Given the description of an element on the screen output the (x, y) to click on. 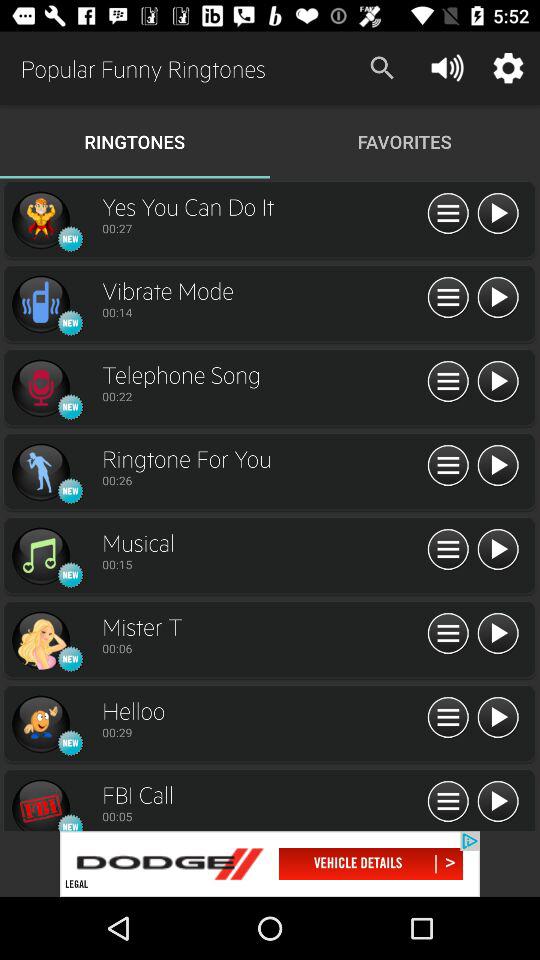
show all info (447, 381)
